Given the description of an element on the screen output the (x, y) to click on. 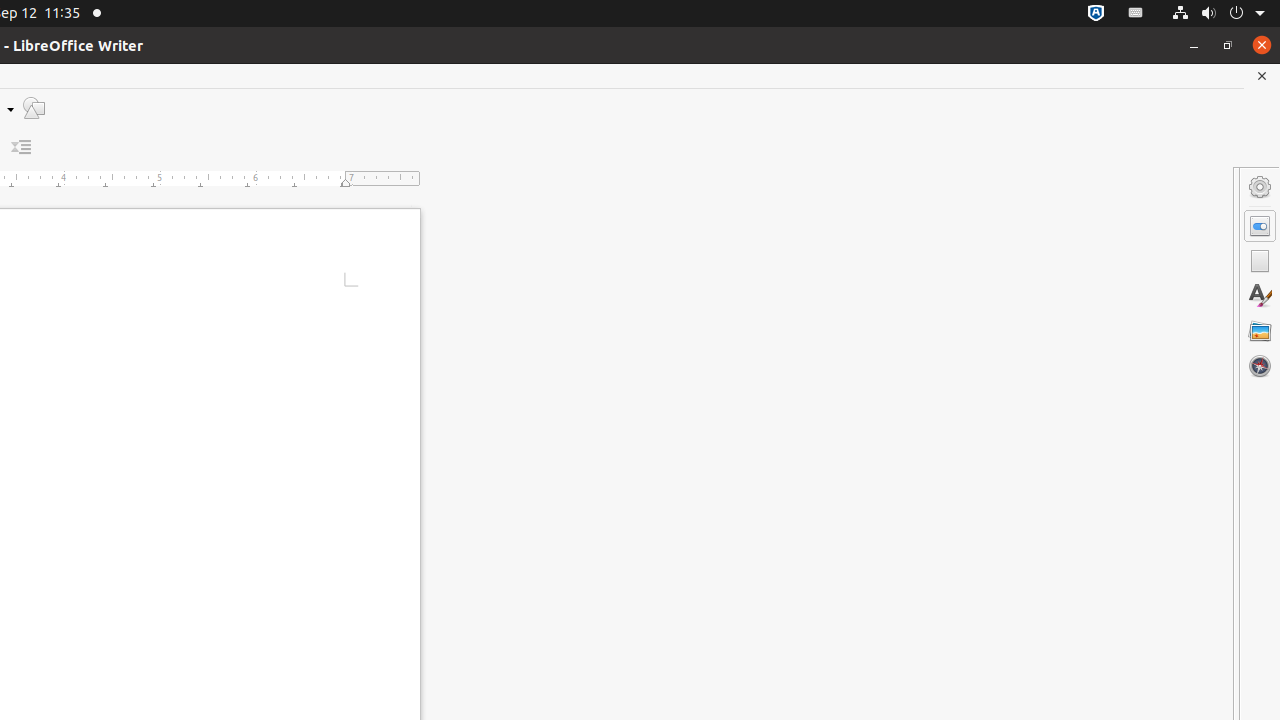
Properties Element type: radio-button (1260, 226)
System Element type: menu (1218, 13)
Decrease Element type: push-button (21, 147)
Navigator Element type: radio-button (1260, 366)
:1.72/StatusNotifierItem Element type: menu (1096, 13)
